Given the description of an element on the screen output the (x, y) to click on. 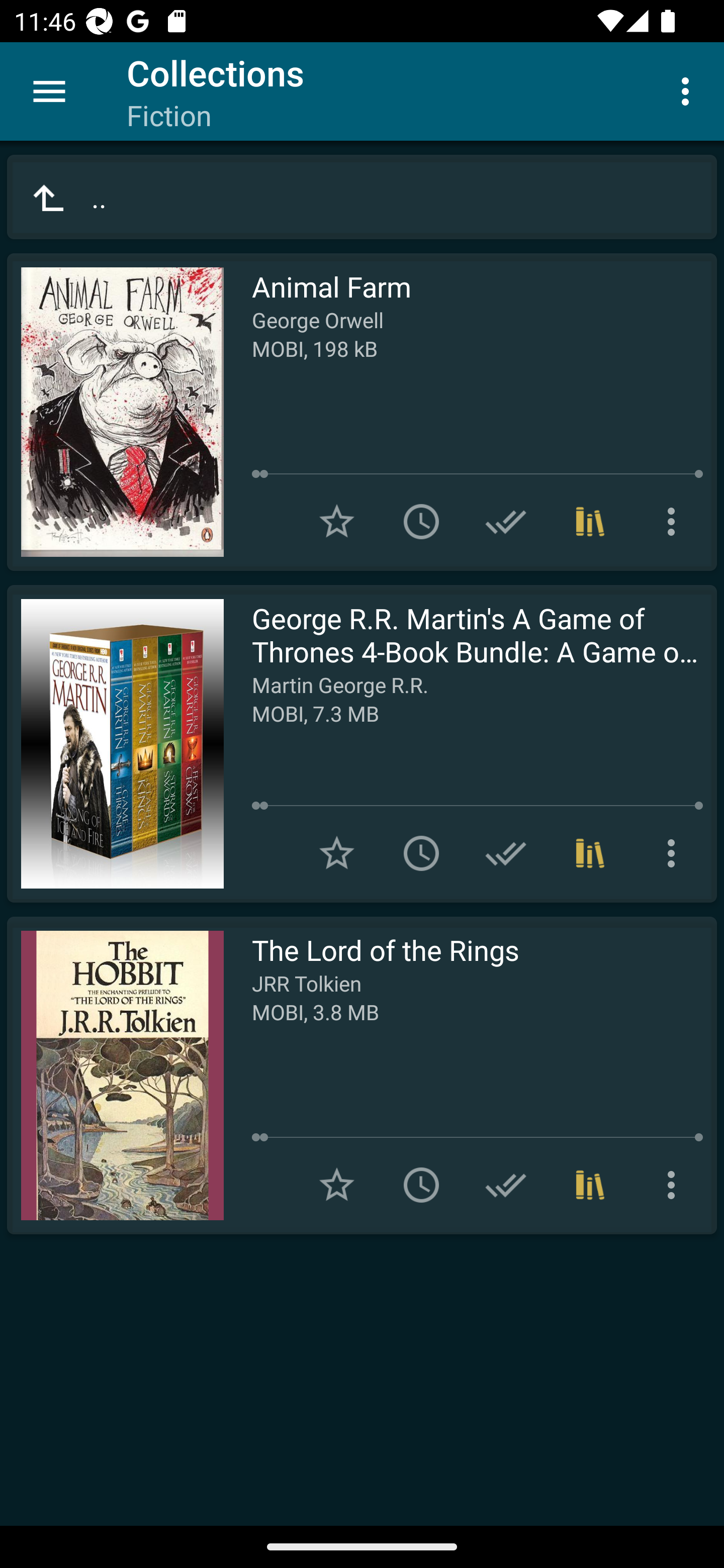
Menu (49, 91)
More options (688, 90)
.. (361, 197)
Read Animal Farm (115, 412)
Add to Favorites (336, 521)
Add to To read (421, 521)
Add to Have read (505, 521)
Collections (1) (590, 521)
More options (674, 521)
Add to Favorites (336, 852)
Add to To read (421, 852)
Add to Have read (505, 852)
Collections (1) (590, 852)
More options (674, 852)
Read The Lord of the Rings (115, 1075)
Add to Favorites (336, 1185)
Add to To read (421, 1185)
Add to Have read (505, 1185)
Collections (1) (590, 1185)
More options (674, 1185)
